Given the description of an element on the screen output the (x, y) to click on. 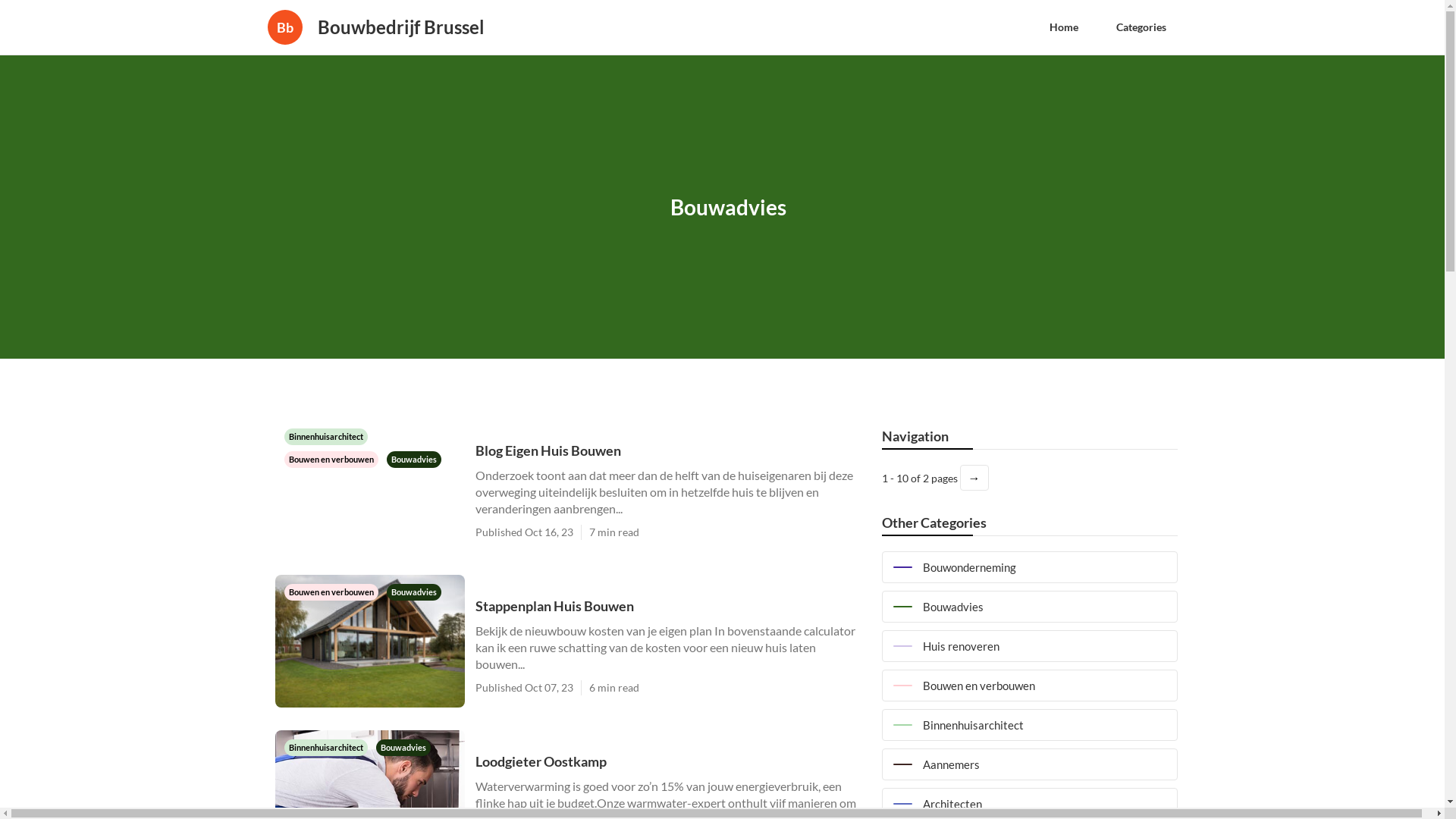
Bouwen en verbouwen Element type: text (331, 590)
Bouwadvies Element type: text (403, 746)
Loodgieter Oostkamp Element type: text (670, 761)
Home Element type: text (1062, 26)
Binnenhuisarchitect Element type: text (325, 435)
Huis renoveren Element type: text (1028, 646)
Bouwen en verbouwen Element type: text (331, 457)
Bouwadvies Element type: text (1028, 606)
Stappenplan Huis Bouwen Element type: text (670, 605)
Bouwadvies Element type: text (413, 590)
Bouwadvies Element type: text (413, 457)
Binnenhuisarchitect Element type: text (326, 746)
Bouwonderneming Element type: text (1028, 567)
Bouwen en verbouwen Element type: text (1028, 685)
Aannemers Element type: text (1028, 764)
Categories Element type: text (1140, 26)
Blog Eigen Huis Bouwen Element type: text (670, 450)
Binnenhuisarchitect Element type: text (1028, 724)
